Given the description of an element on the screen output the (x, y) to click on. 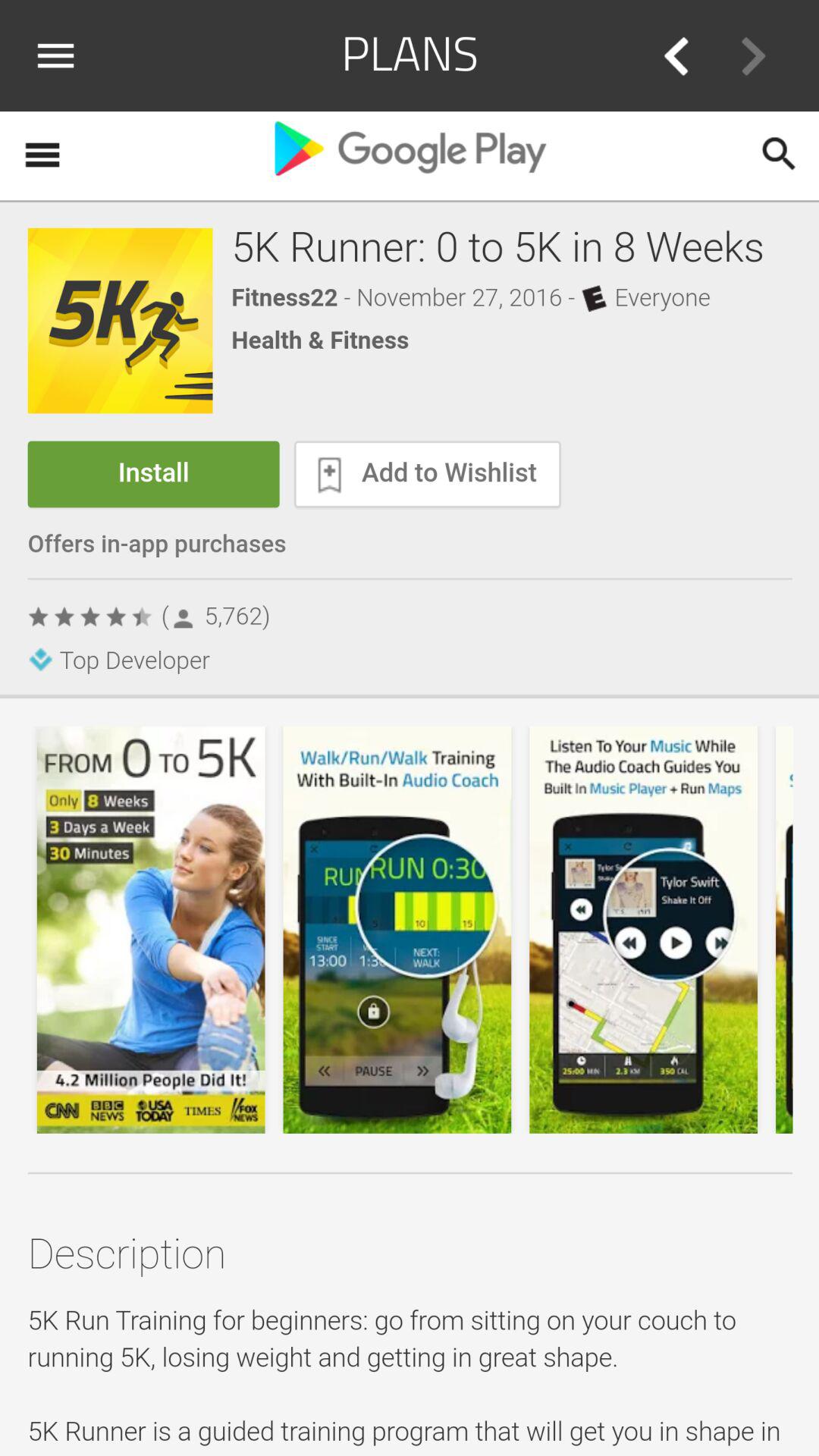
setting the option (61, 55)
